Given the description of an element on the screen output the (x, y) to click on. 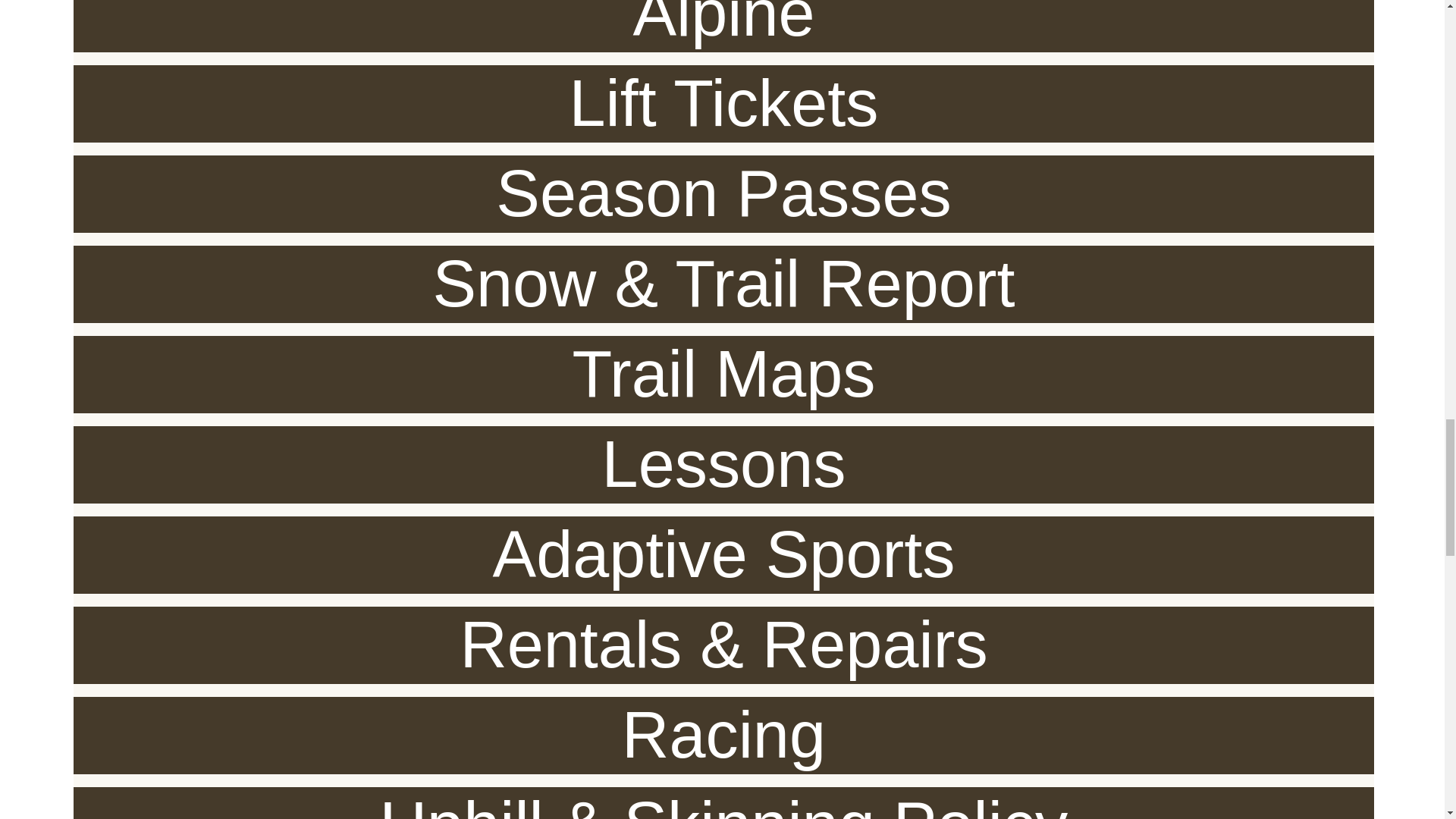
Adaptive Sports (724, 554)
Lessons (724, 464)
Alpine (724, 26)
Racing (724, 734)
Season Passes (724, 193)
Lift Tickets (724, 103)
Trail Maps (724, 374)
